Given the description of an element on the screen output the (x, y) to click on. 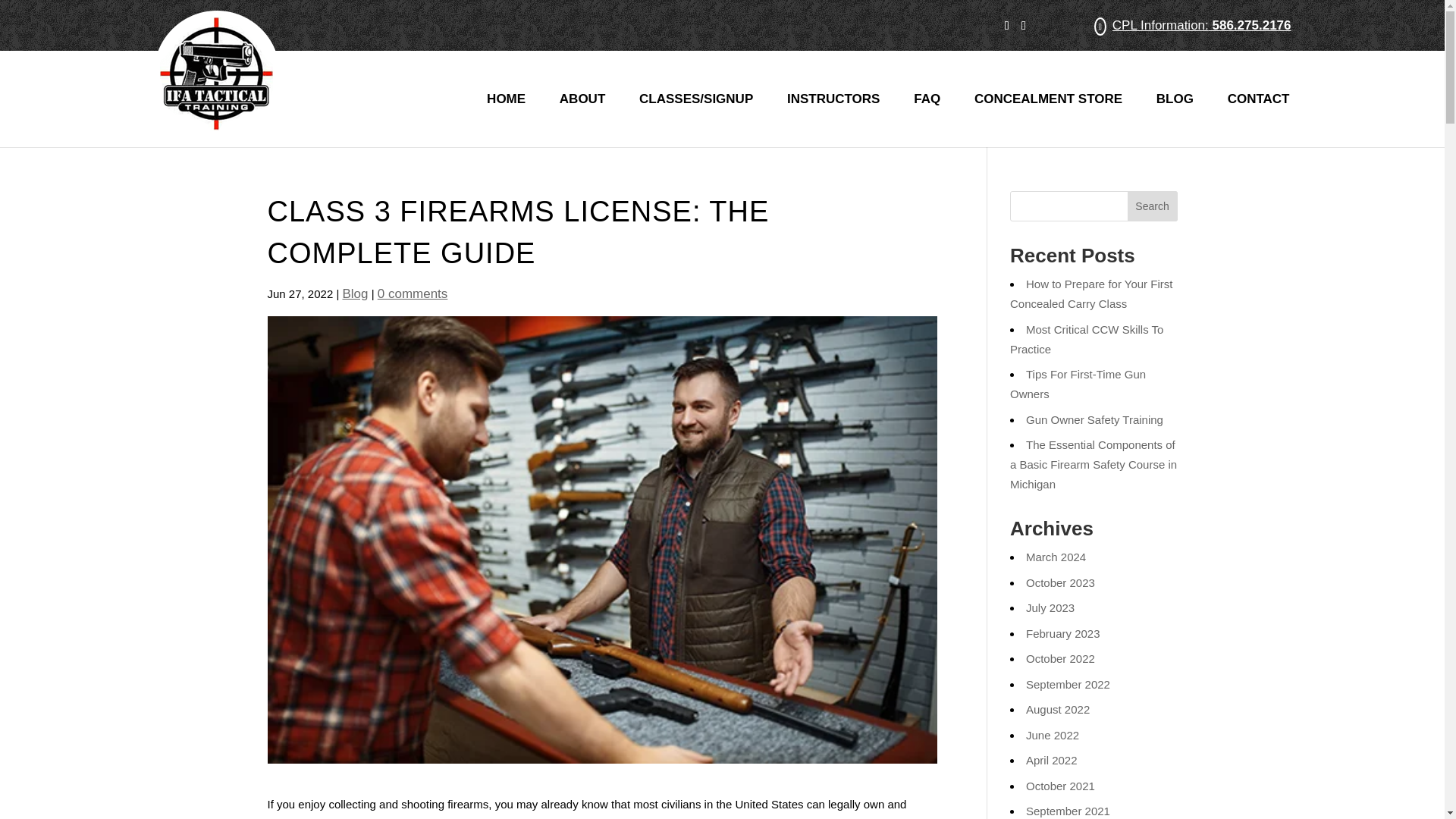
Blog (355, 293)
Search (1151, 205)
CONTACT (1258, 117)
How to Prepare for Your First Concealed Carry Class (1091, 293)
Search (1151, 205)
Most Critical CCW Skills To Practice (1086, 338)
0 comments (412, 293)
CONCEALMENT STORE (1048, 117)
CPL Information: 586.275.2176 (1201, 25)
INSTRUCTORS (833, 117)
